Given the description of an element on the screen output the (x, y) to click on. 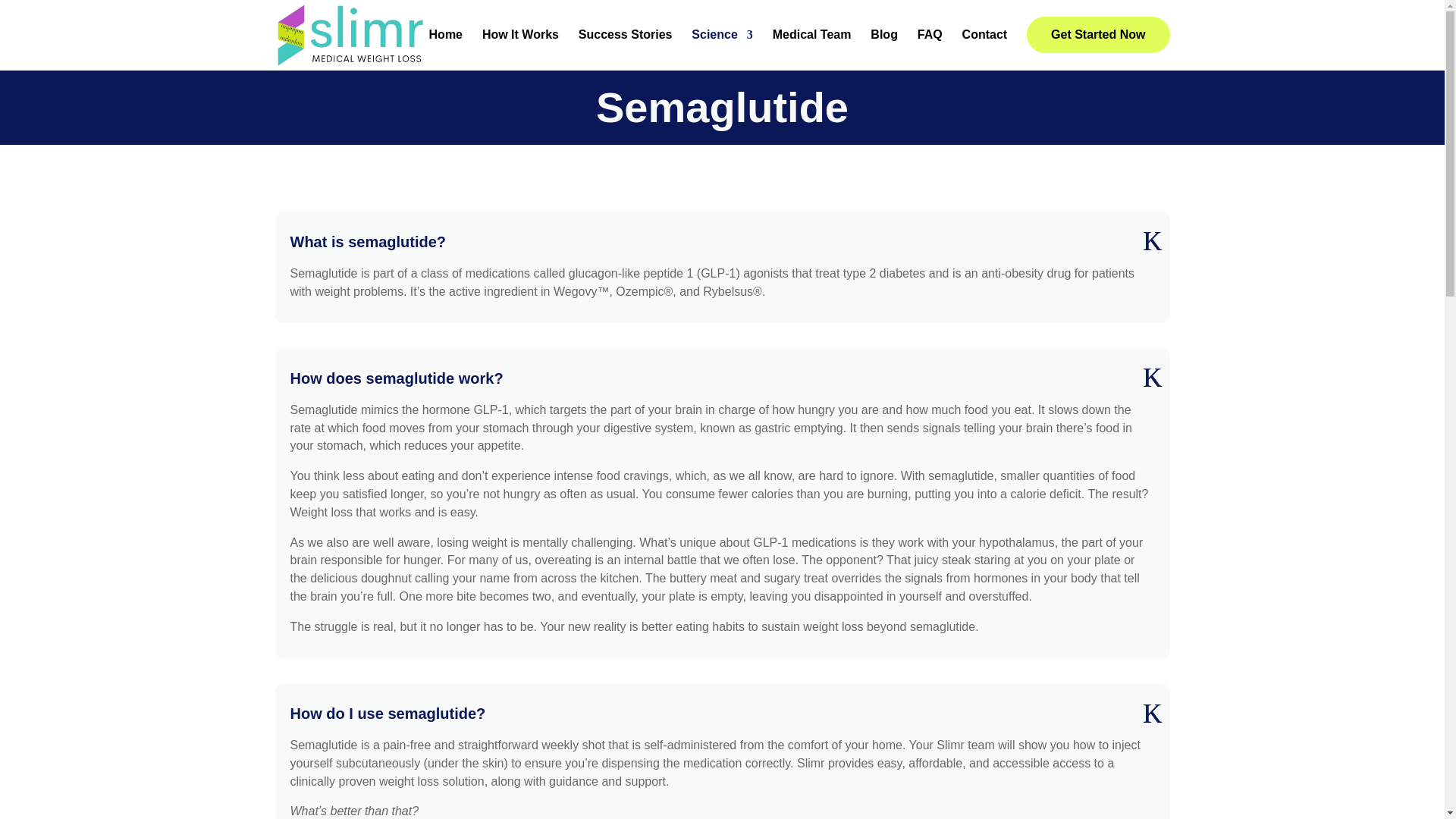
Success Stories (625, 47)
Science (721, 47)
Contact (984, 47)
Home (446, 47)
Medical Team (812, 47)
Get Started Now (1097, 34)
How It Works (520, 47)
